Given the description of an element on the screen output the (x, y) to click on. 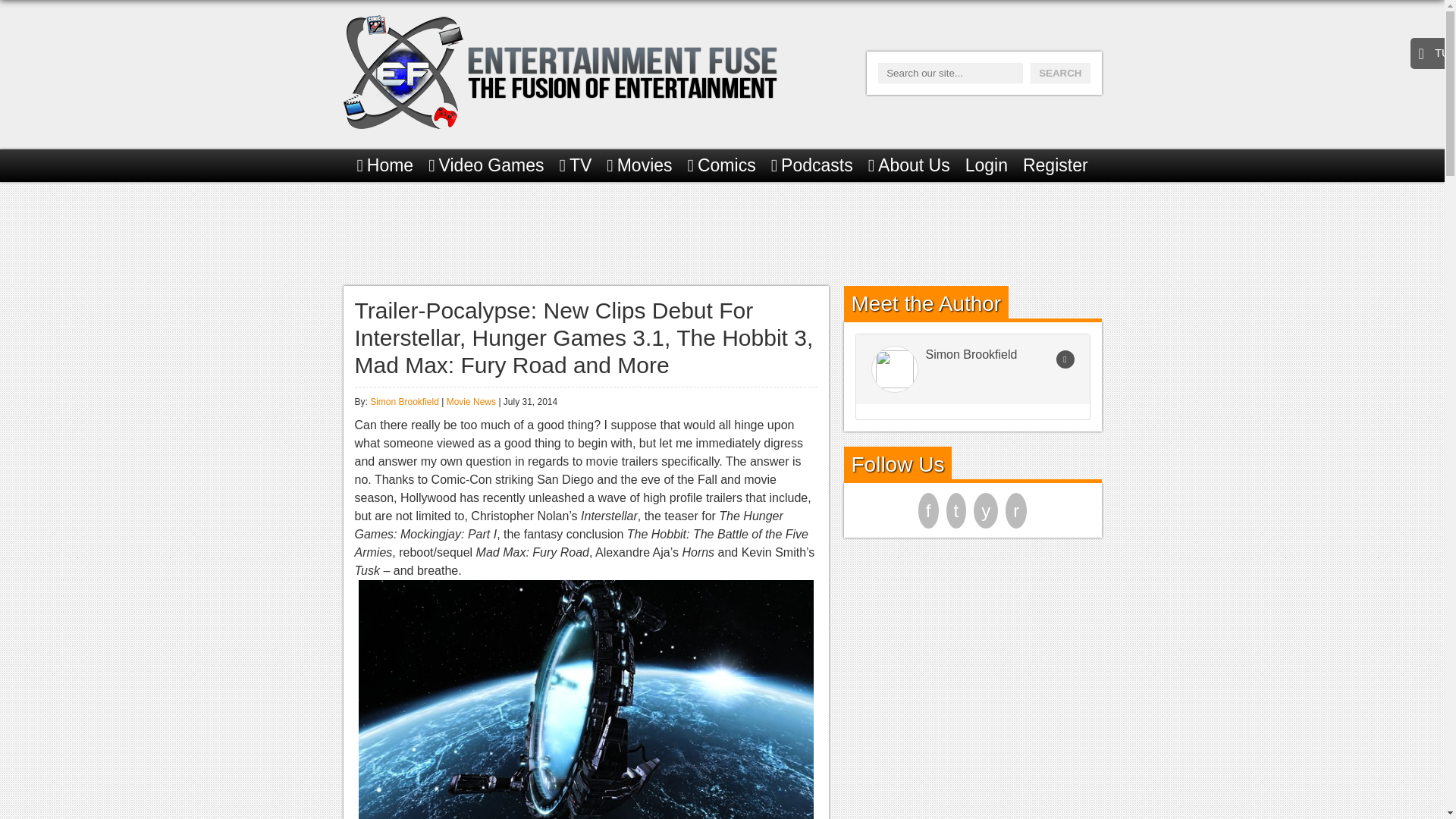
Comics (721, 165)
Movies (639, 165)
Video Games (485, 165)
Search (1059, 73)
Posts by Simon Brookfield (404, 401)
TV (575, 165)
Home (384, 165)
Send E-mail (1064, 359)
Search (1059, 73)
